Given the description of an element on the screen output the (x, y) to click on. 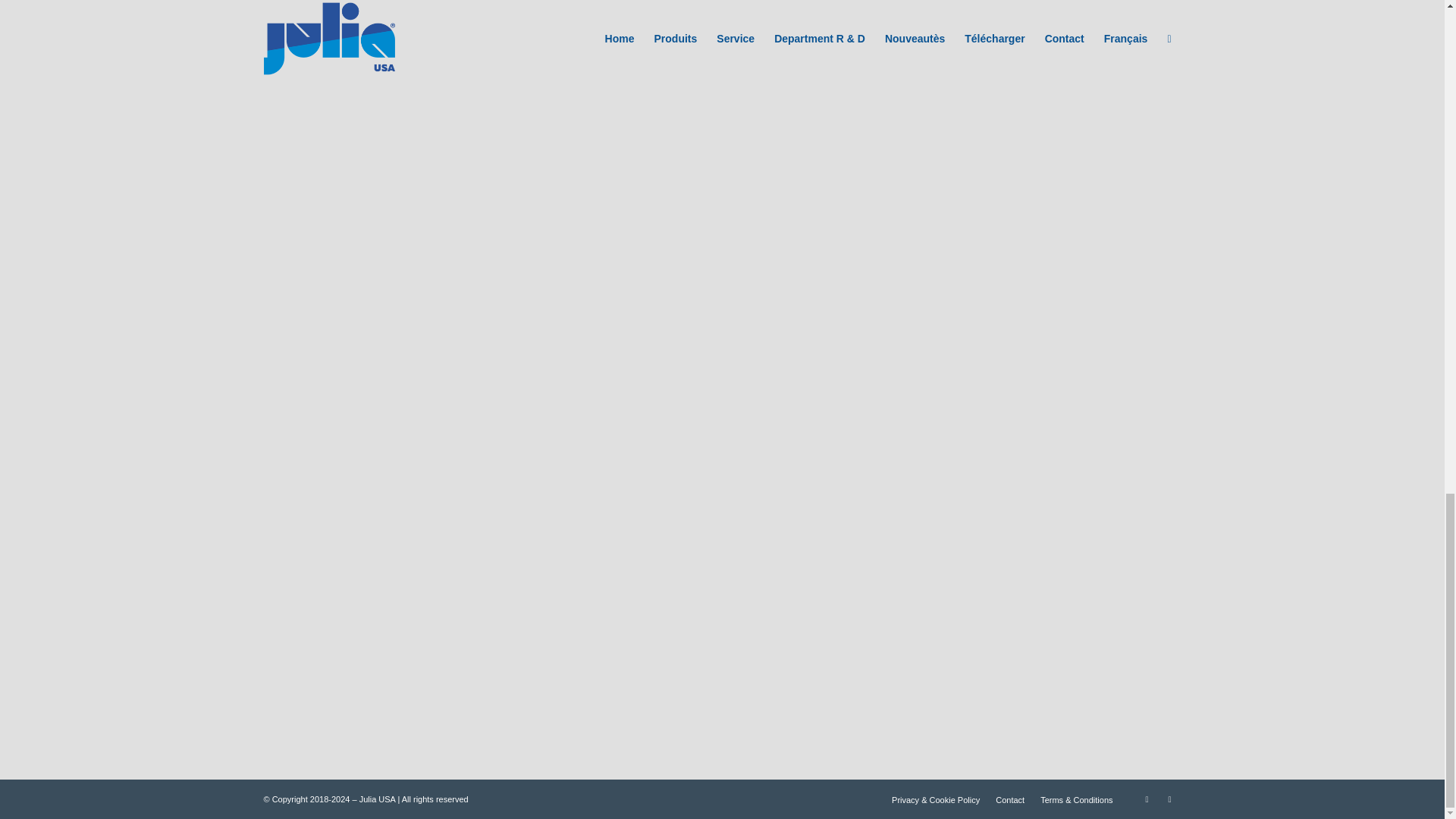
LinkedIn (1146, 798)
Youtube (1169, 798)
Contact (1010, 799)
